Given the description of an element on the screen output the (x, y) to click on. 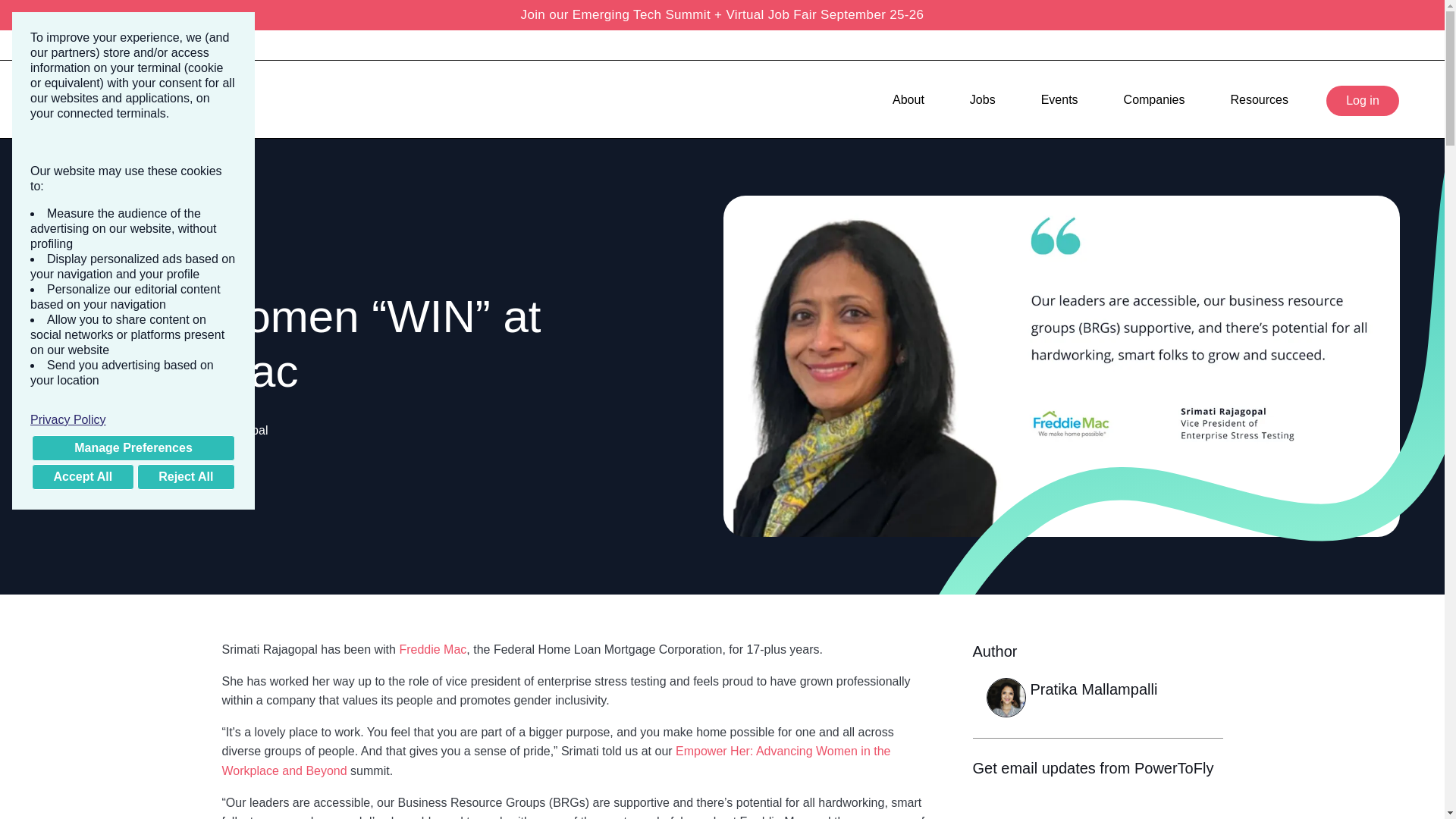
Employers (166, 45)
Accept All (82, 476)
Events (1059, 99)
Resources (1259, 99)
Log in (1362, 100)
Companies (1154, 99)
Talent (82, 45)
Reject All (185, 476)
Privacy Policy (132, 419)
Manage Preferences (133, 447)
